Given the description of an element on the screen output the (x, y) to click on. 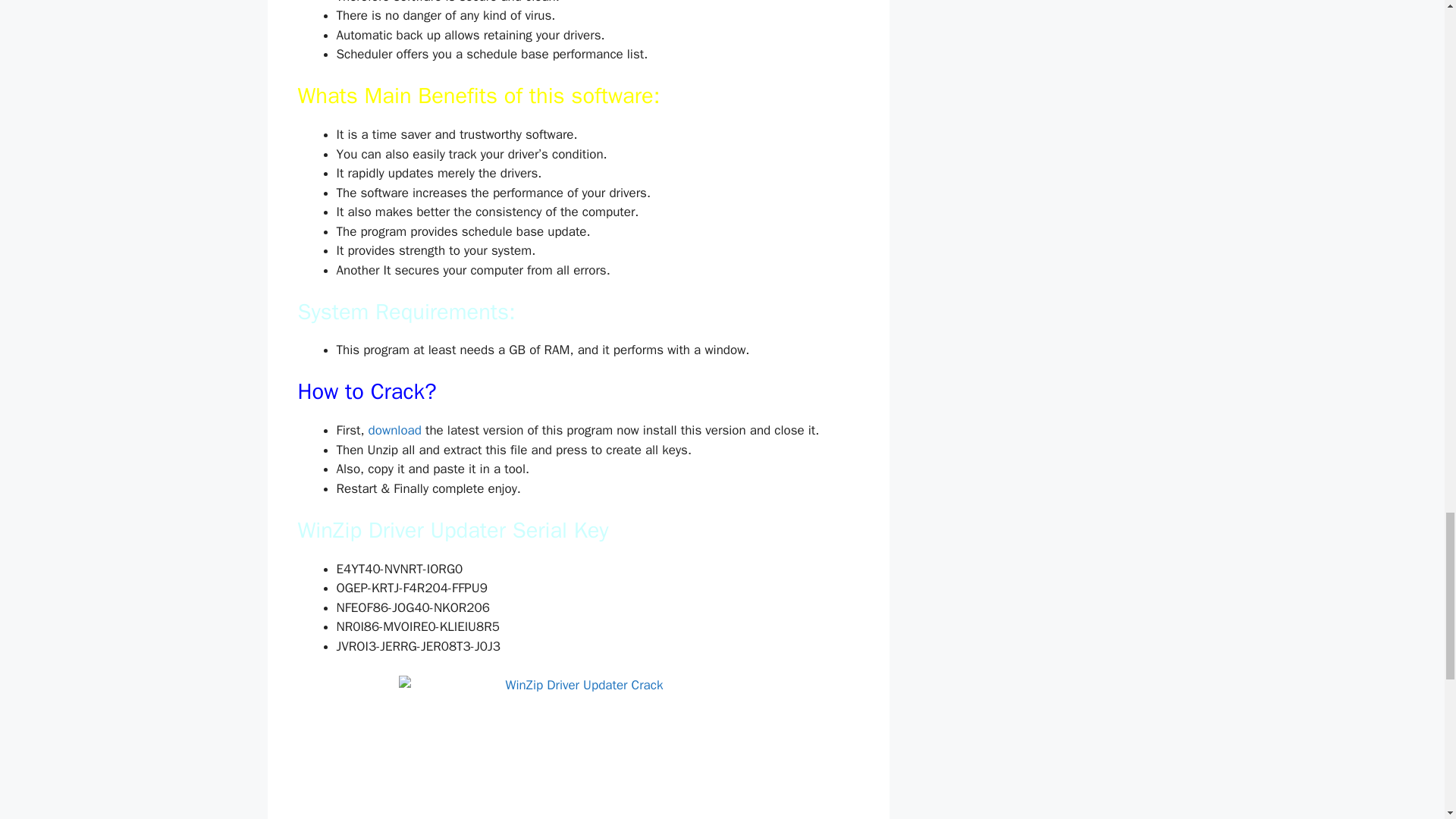
download (395, 430)
WinZip Driver Updater Crack  (577, 747)
